Given the description of an element on the screen output the (x, y) to click on. 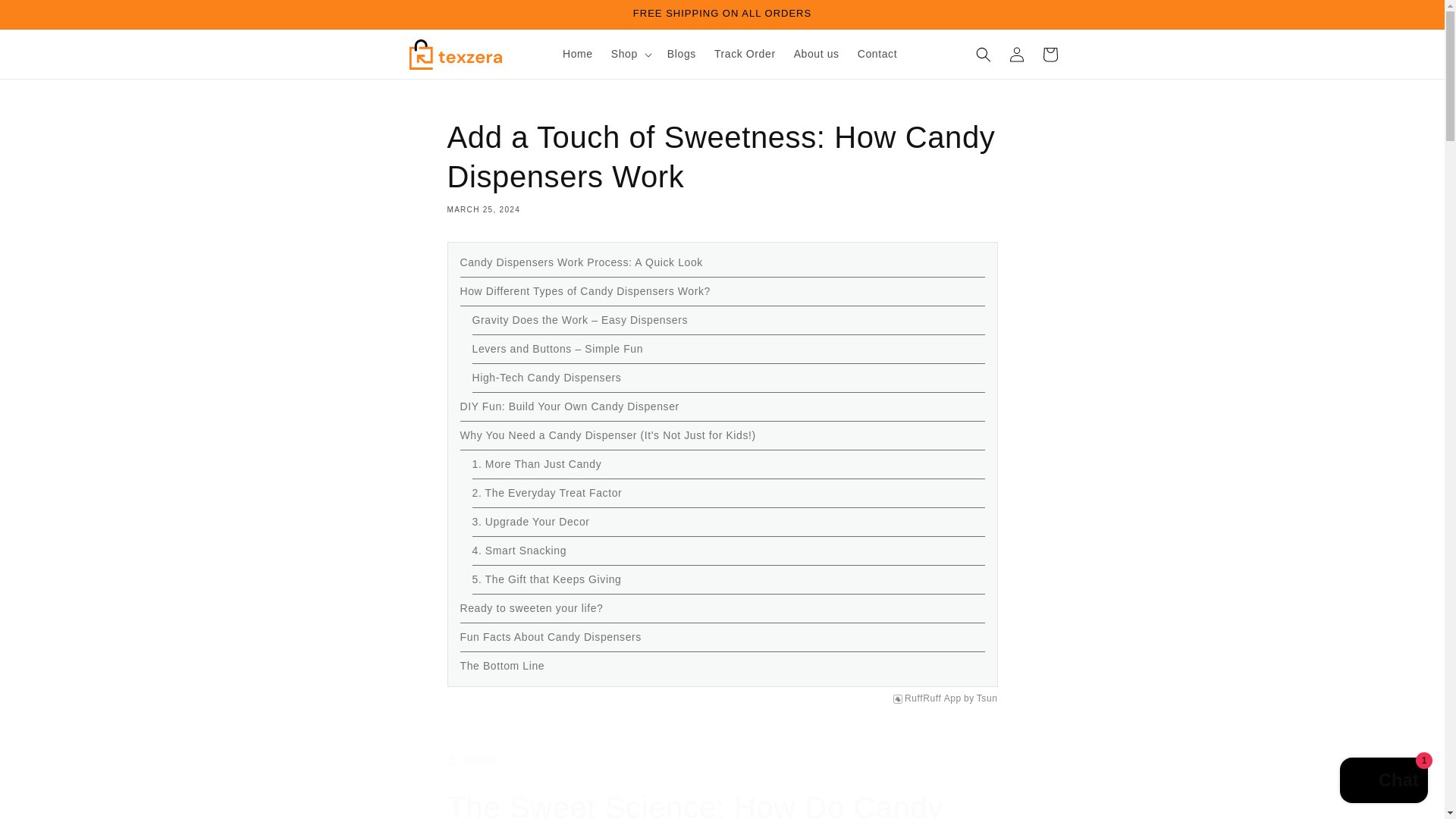
Home (577, 53)
Contact (876, 53)
Log in (1015, 54)
DIY Fun: Build Your Own Candy Dispenser (569, 406)
RuffRuff App (932, 698)
Cart (1048, 54)
Shopify online store chat (1383, 781)
Tsun (986, 698)
Track Order (744, 53)
Blogs (681, 53)
About us (816, 53)
Candy Dispensers Work Process: A Quick Look (580, 262)
High-Tech Candy Dispensers (546, 377)
Skip to content (45, 17)
Share (721, 759)
